Given the description of an element on the screen output the (x, y) to click on. 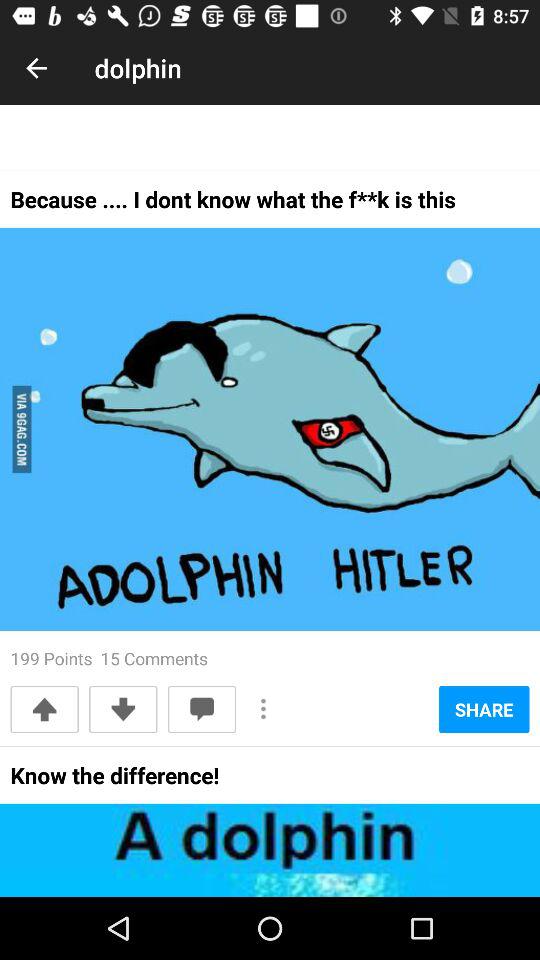
turn on the share at the bottom right corner (484, 709)
